Given the description of an element on the screen output the (x, y) to click on. 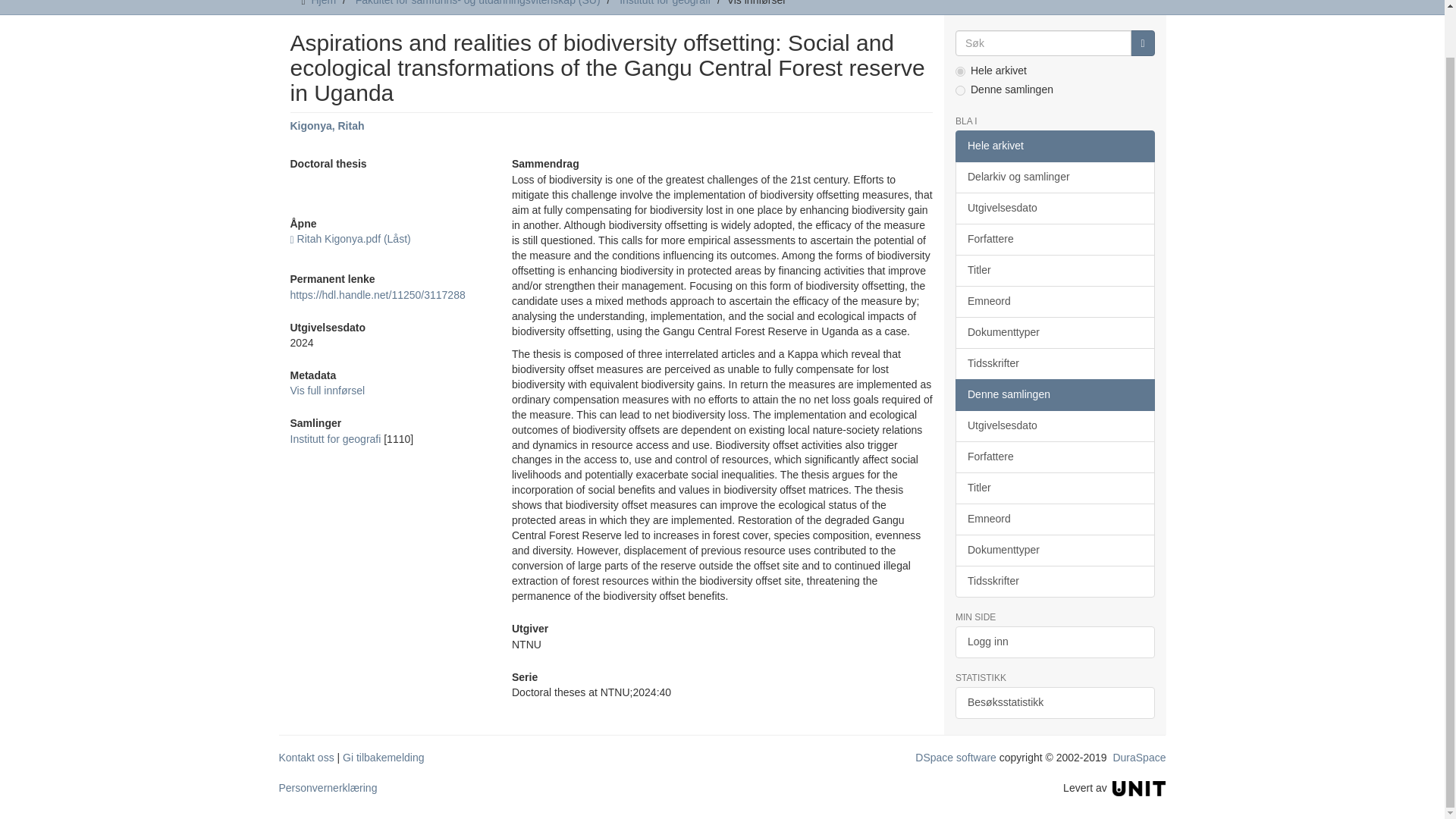
Institutt for geografi (334, 439)
Delarkiv og samlinger (1054, 177)
Hele arkivet (1054, 146)
Forfattere (1054, 239)
Tidsskrifter (1054, 364)
Titler (1054, 270)
Dokumenttyper (1054, 332)
Institutt for geografi (665, 2)
Utgivelsesdato (1054, 208)
Emneord (1054, 301)
Hjem (323, 2)
Unit (1139, 787)
Kigonya, Ritah (326, 125)
